Given the description of an element on the screen output the (x, y) to click on. 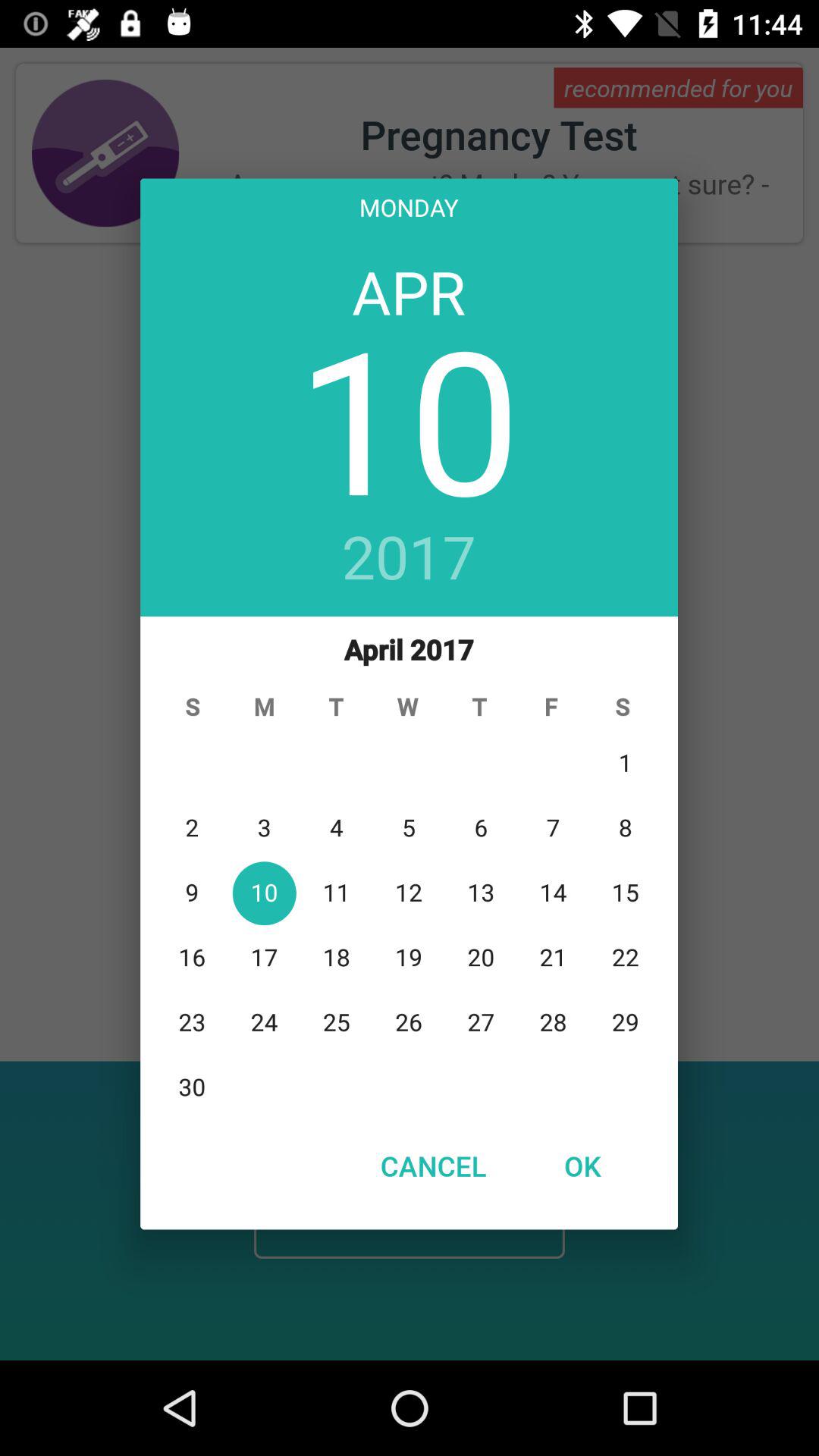
open the icon at the bottom right corner (582, 1165)
